Given the description of an element on the screen output the (x, y) to click on. 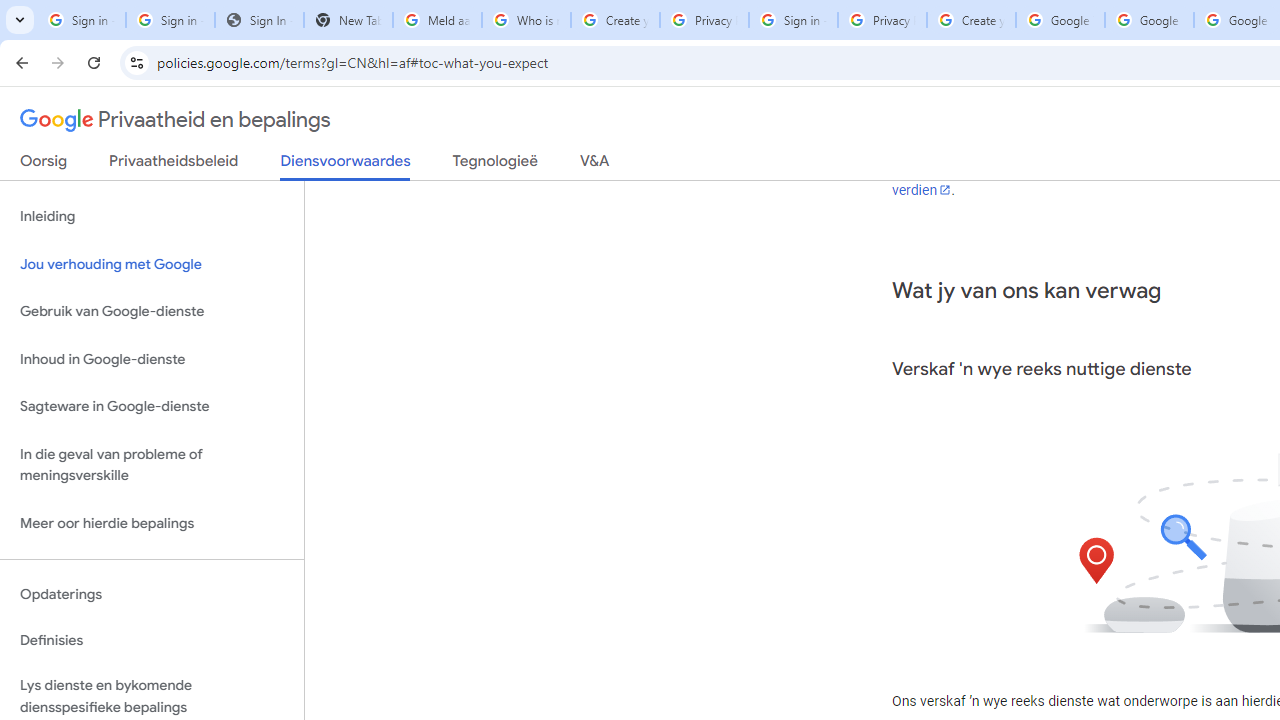
Sign In - USA TODAY (259, 20)
geaffilieerdes (1115, 142)
Jou verhouding met Google (152, 263)
New Tab (347, 20)
Privaatheidsbeleid (173, 165)
Create your Google Account (615, 20)
V&A (594, 165)
Sign in - Google Accounts (170, 20)
Who is my administrator? - Google Account Help (526, 20)
In die geval van probleme of meningsverskille (152, 464)
Meer oor hierdie bepalings (152, 522)
